Given the description of an element on the screen output the (x, y) to click on. 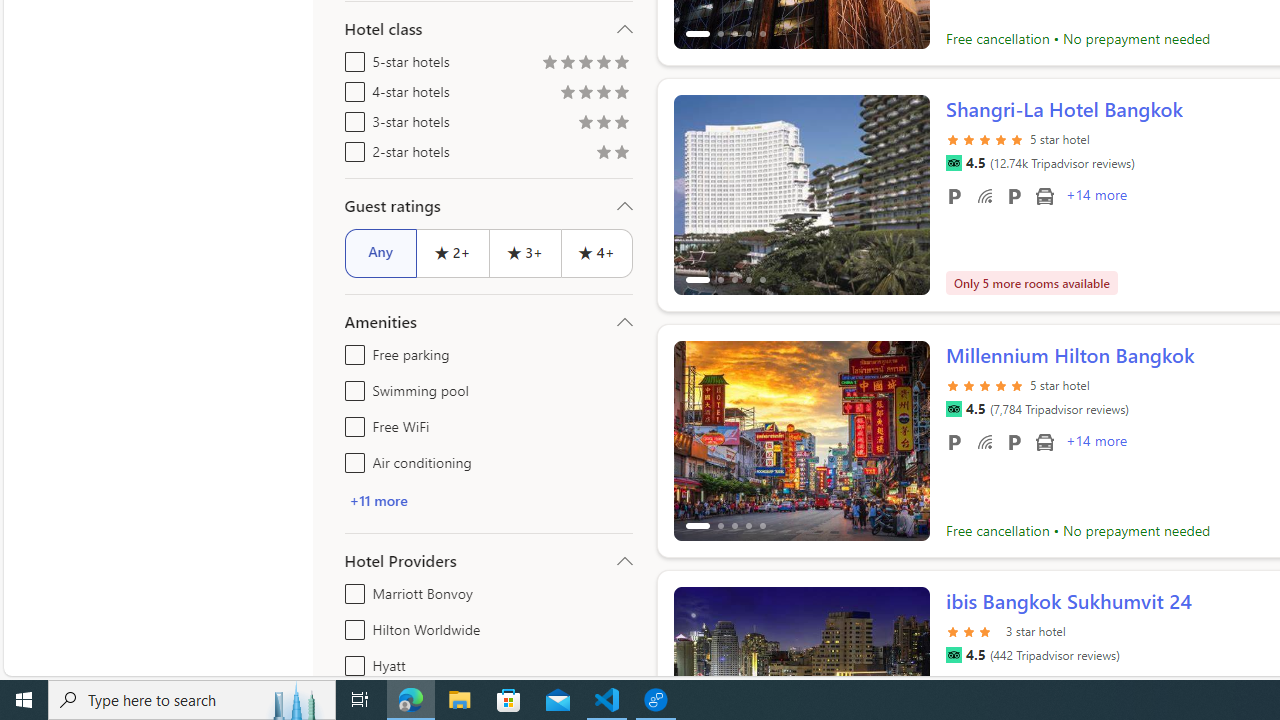
Free WiFi (984, 441)
Slide 1 (801, 440)
star rating (973, 630)
Air conditioning (351, 458)
4-star hotels (351, 88)
ScrollLeft (697, 678)
2-star hotels (351, 147)
Rating (621, 154)
Any (380, 252)
Tripadvisor (953, 655)
Valet parking (1014, 441)
ScrollRight (905, 678)
Hilton Worldwide (351, 625)
+14 More Amenities (1095, 443)
Hyatt (351, 661)
